Given the description of an element on the screen output the (x, y) to click on. 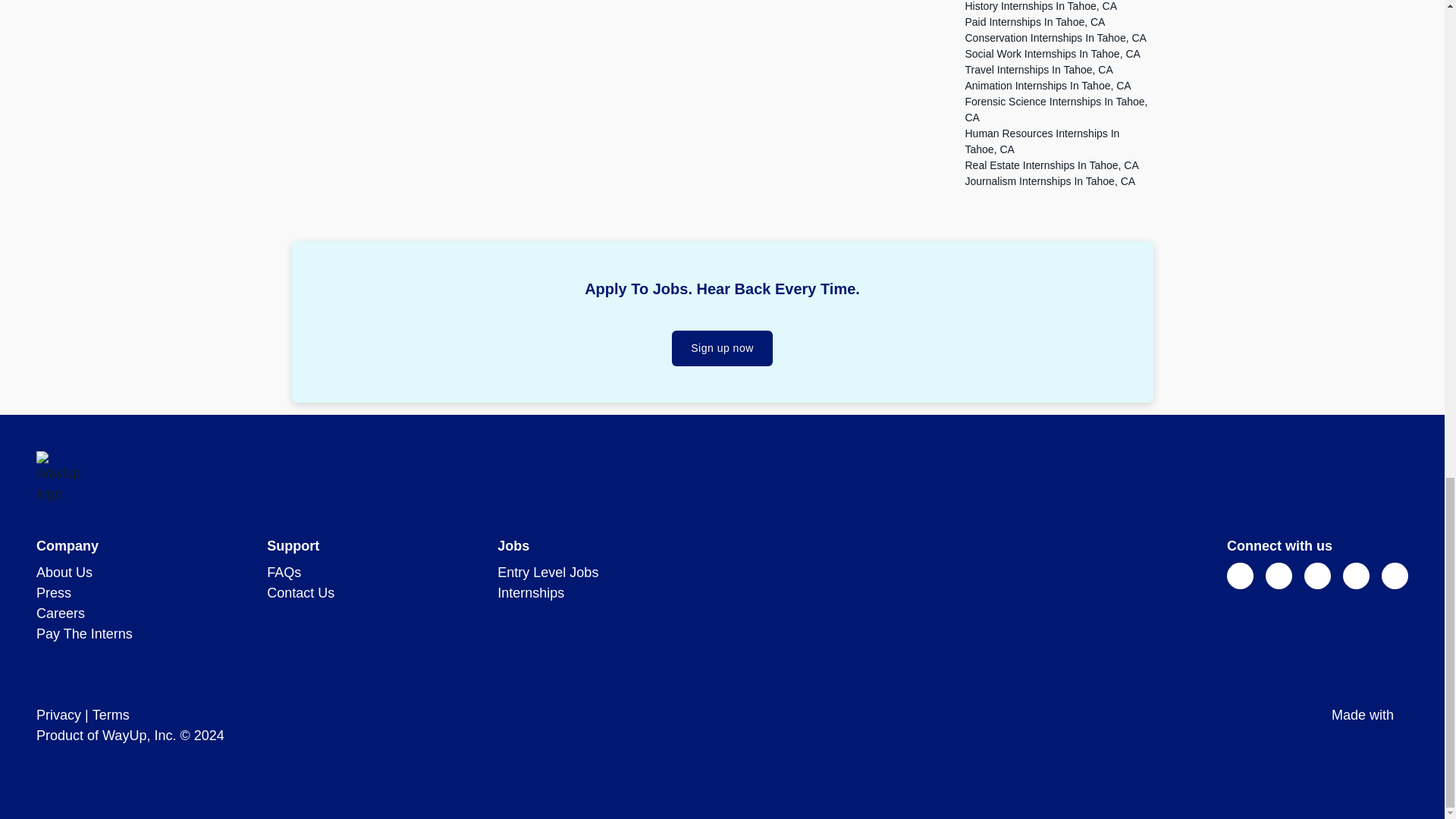
Careers (60, 613)
Journalism Internships In Tahoe, CA (1049, 181)
Conservation Internships In Tahoe, CA (1054, 37)
Entry Level Jobs (547, 572)
Animation Internships In Tahoe, CA (1047, 85)
Pay The Interns (84, 634)
Privacy (58, 714)
Terms (111, 714)
Forensic Science Internships In Tahoe, CA (1055, 109)
Sign up now (722, 348)
Travel Internships In Tahoe, CA (1037, 69)
About Us (64, 572)
Internships (530, 593)
Contact Us (300, 593)
History Internships In Tahoe, CA (1039, 6)
